Given the description of an element on the screen output the (x, y) to click on. 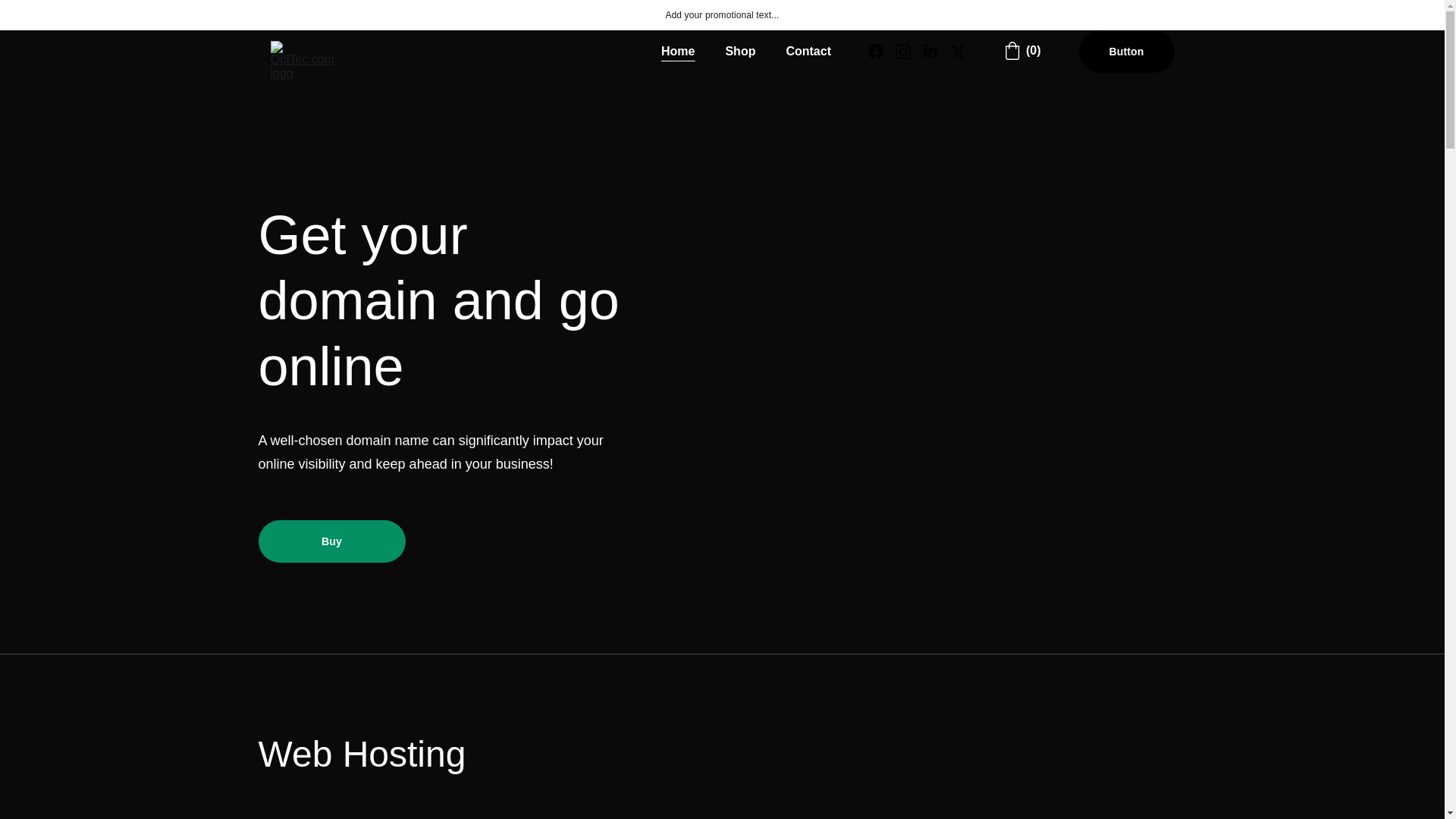
Button (1126, 51)
Go to cart (1022, 50)
Contact (808, 51)
Home (677, 51)
Shop (740, 51)
Buy (330, 541)
